Given the description of an element on the screen output the (x, y) to click on. 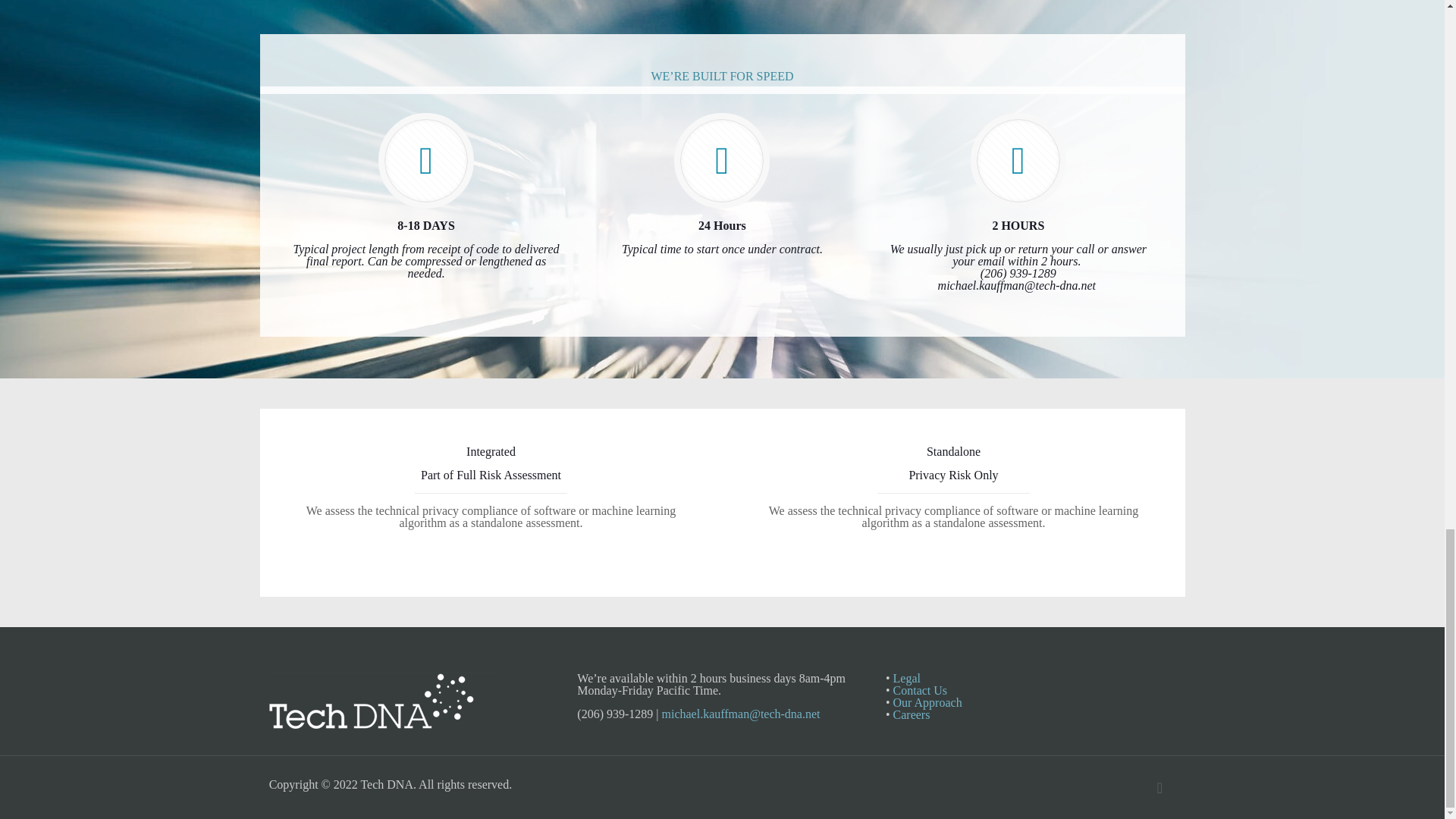
Contact Us (722, 184)
Careers (920, 689)
Legal (911, 714)
Our Approach (906, 677)
